Given the description of an element on the screen output the (x, y) to click on. 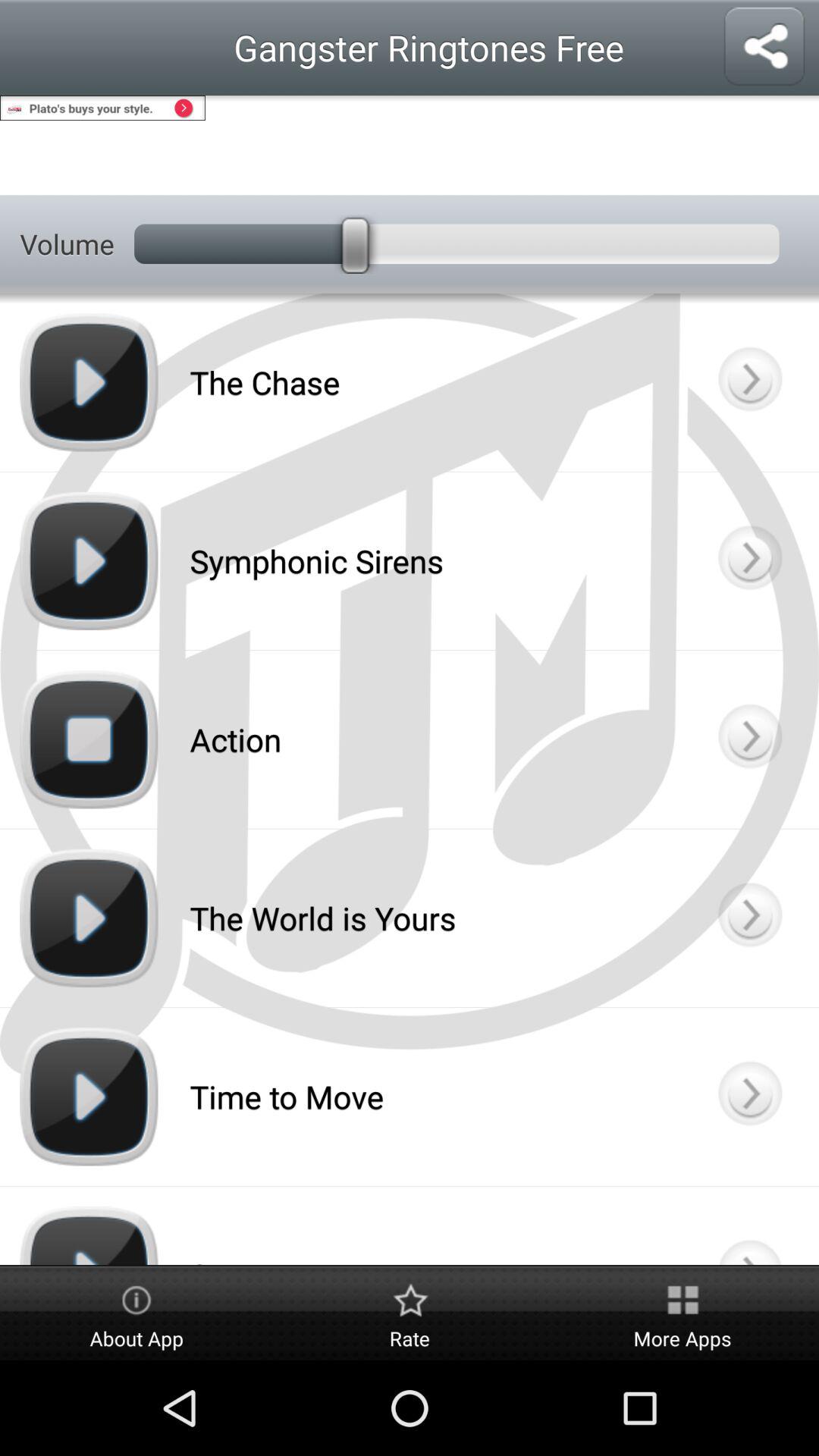
select time to move (749, 1096)
